Given the description of an element on the screen output the (x, y) to click on. 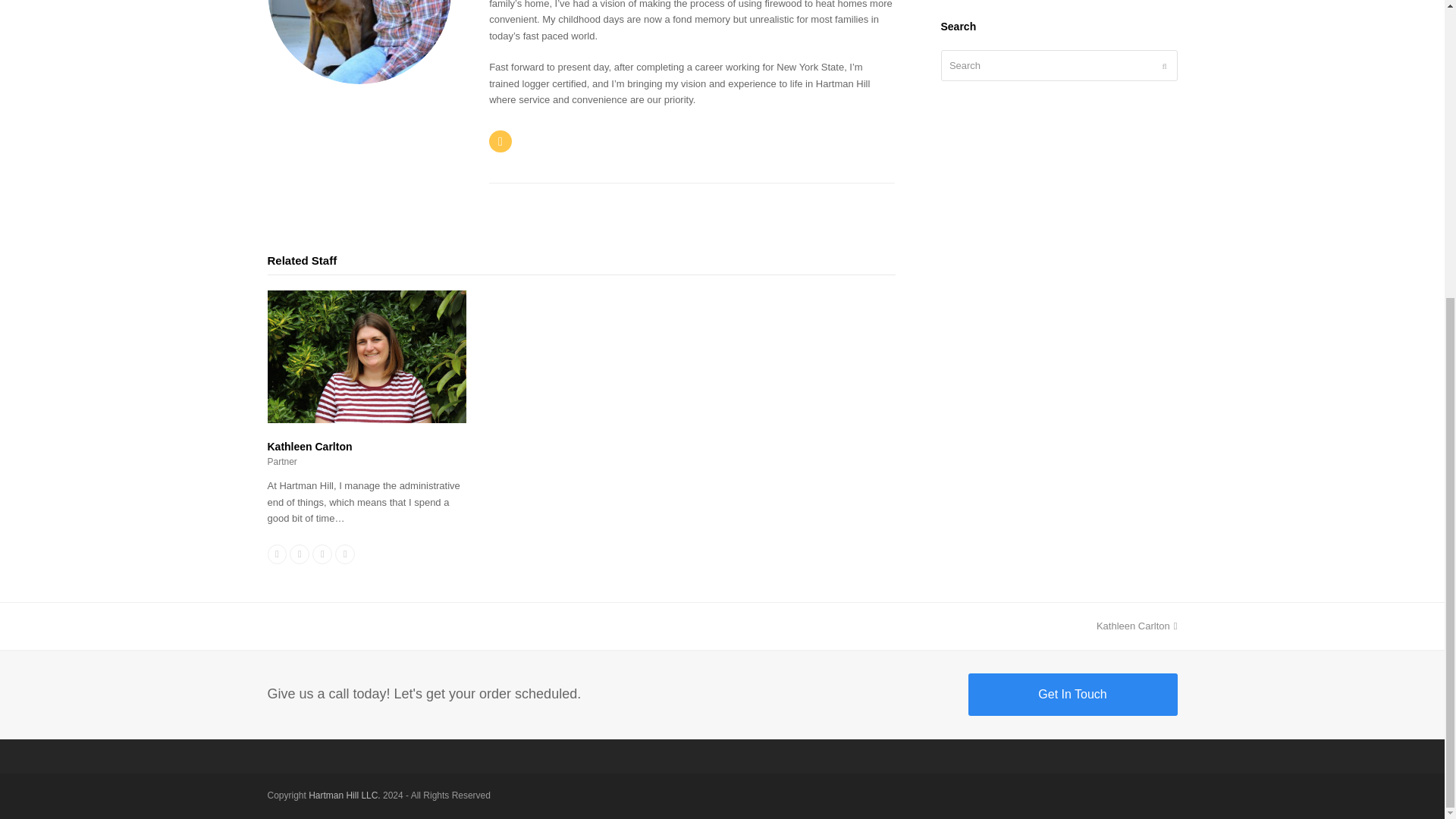
Facebook (276, 554)
Hartman Hill LLC. (344, 795)
Kathleen Carlton (365, 419)
Phone Number (298, 554)
Email (322, 554)
Website (344, 554)
Email (500, 141)
Get In Touch (1136, 625)
Kathleen Carlton (1072, 694)
